Given the description of an element on the screen output the (x, y) to click on. 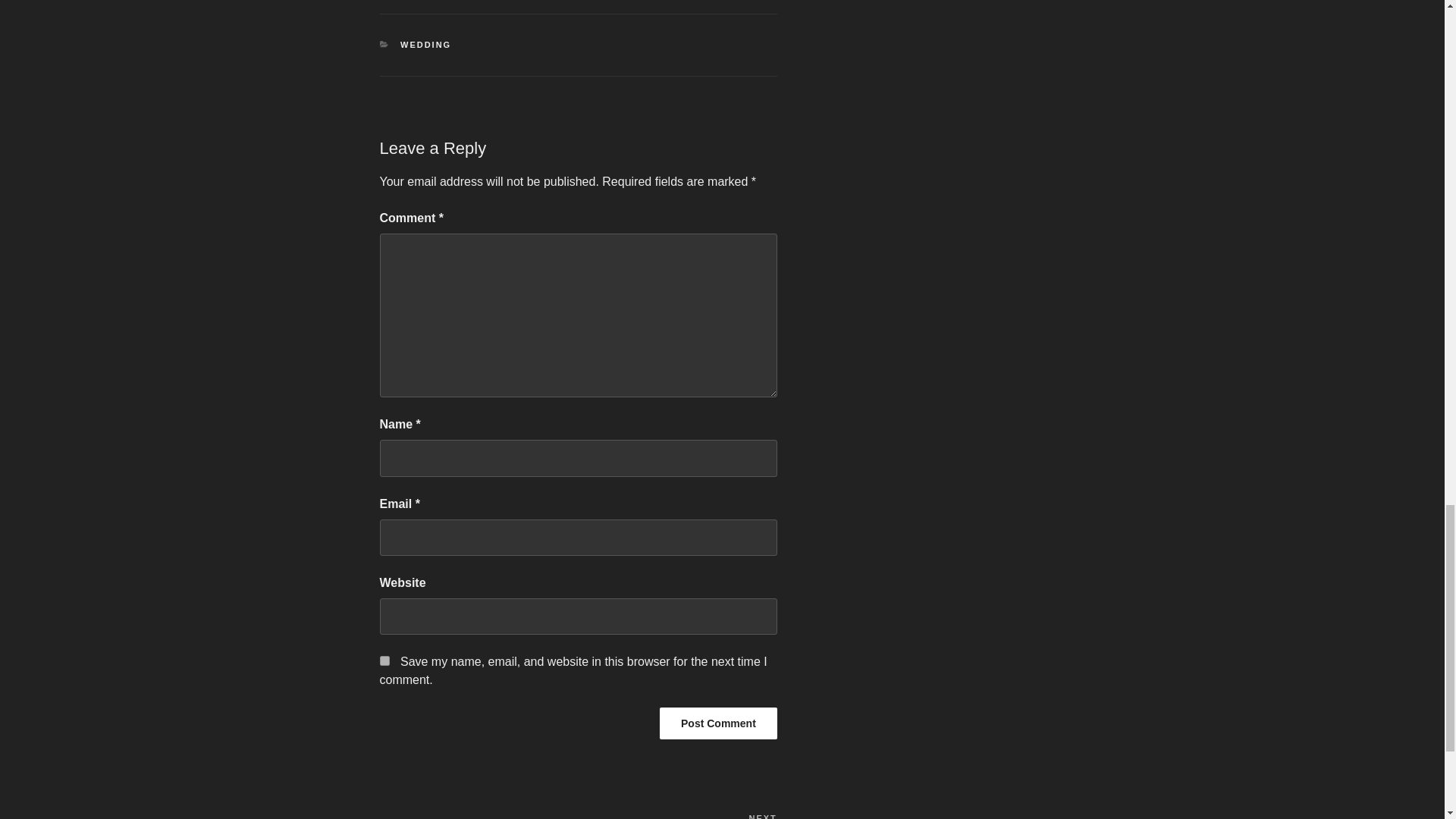
Post Comment (718, 723)
yes (383, 660)
WEDDING (425, 44)
Post Comment (718, 723)
